Given the description of an element on the screen output the (x, y) to click on. 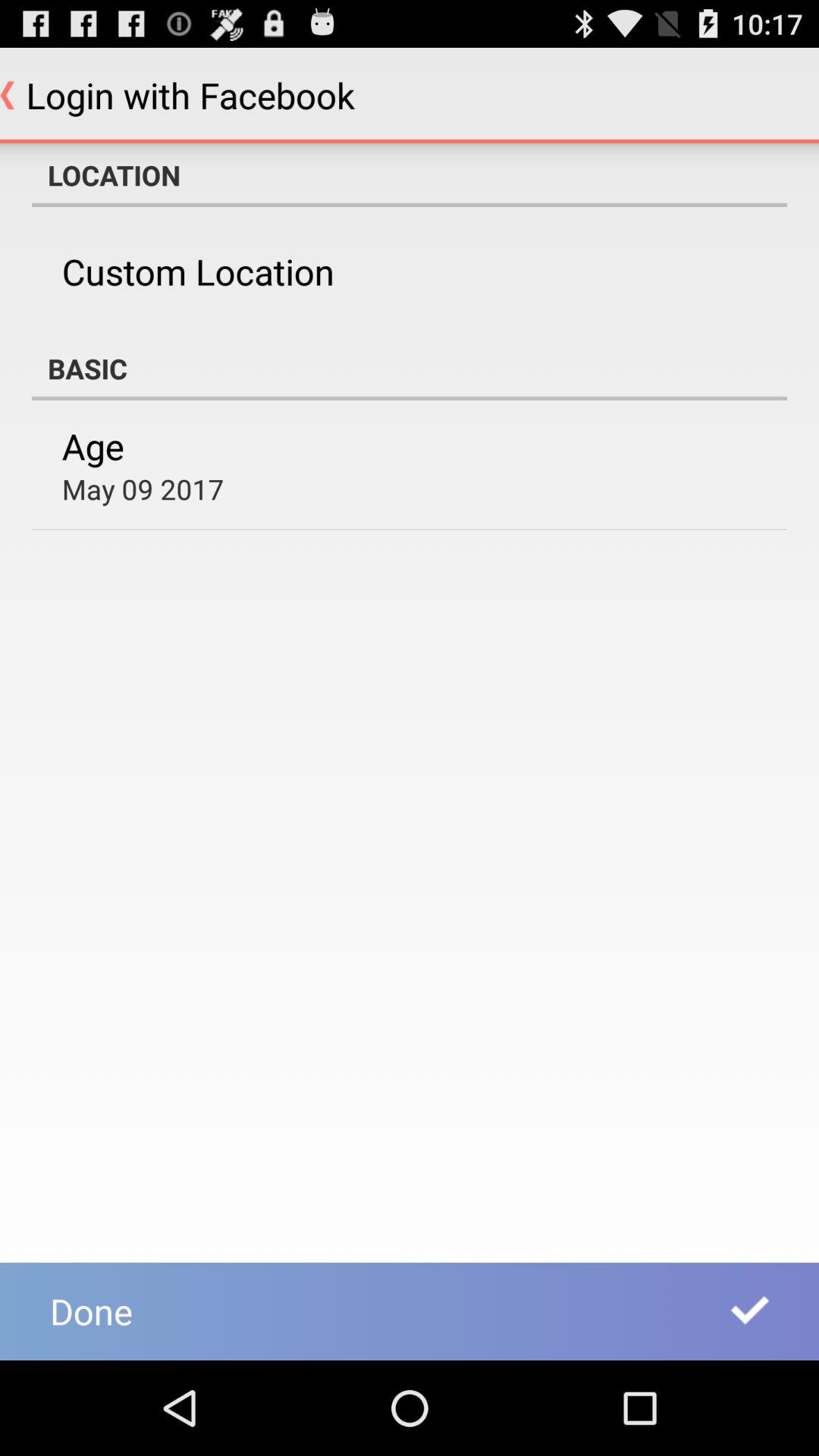
swipe until basic app (409, 368)
